Given the description of an element on the screen output the (x, y) to click on. 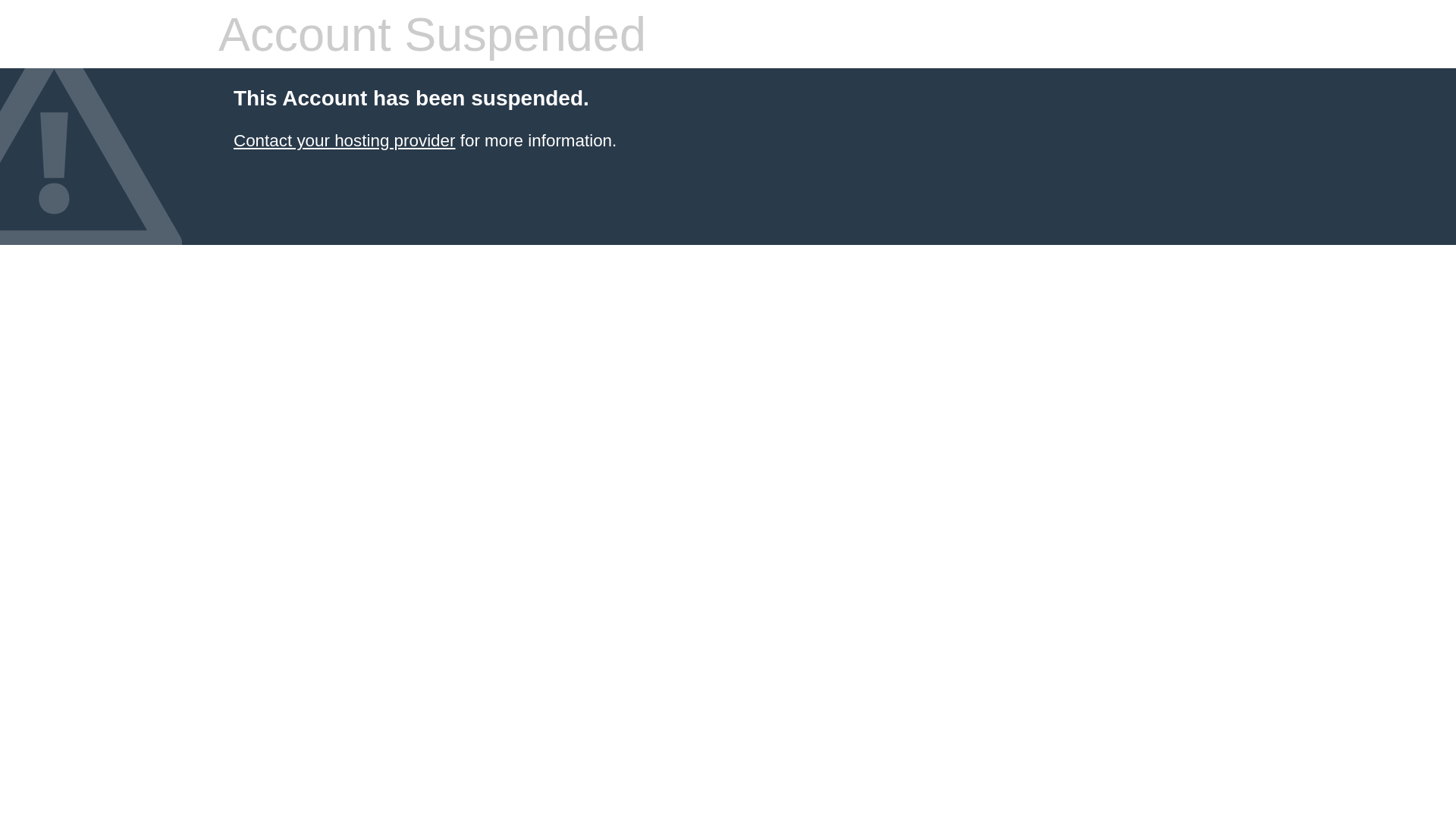
Contact your hosting provider Element type: text (344, 140)
